Given the description of an element on the screen output the (x, y) to click on. 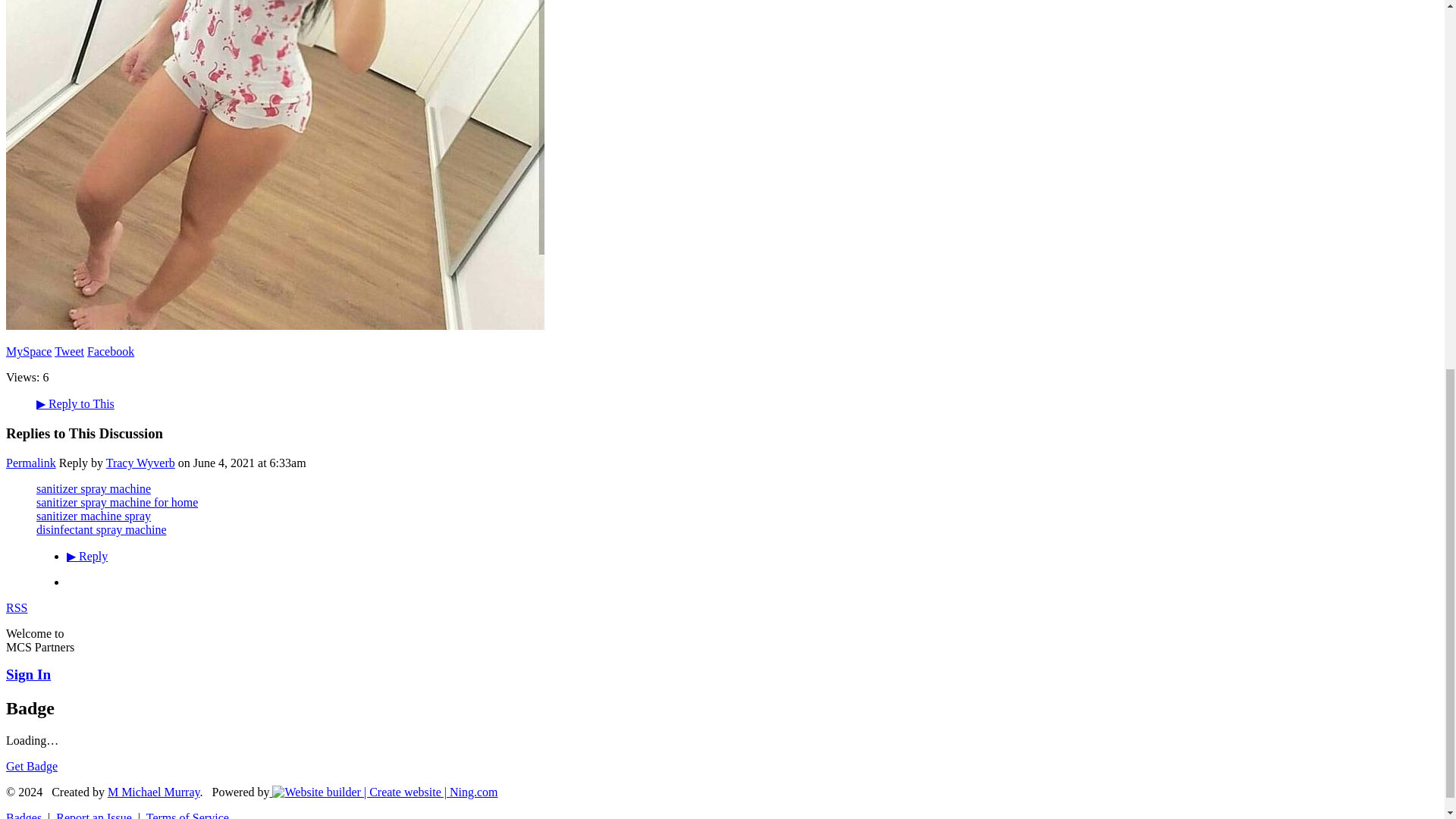
Permalink to this Reply (30, 462)
RSS (16, 607)
disinfectant spray machine (101, 529)
sanitizer machine spray (93, 515)
Facebook (110, 350)
Tweet (69, 350)
Get Badge (31, 766)
M Michael Murray (153, 791)
sanitizer spray machine (93, 488)
sanitizer spray machine for home (117, 502)
Permalink (30, 462)
Tracy Wyverb (140, 462)
Ning Website Builder (384, 792)
MySpace (27, 350)
Sign In (27, 674)
